Given the description of an element on the screen output the (x, y) to click on. 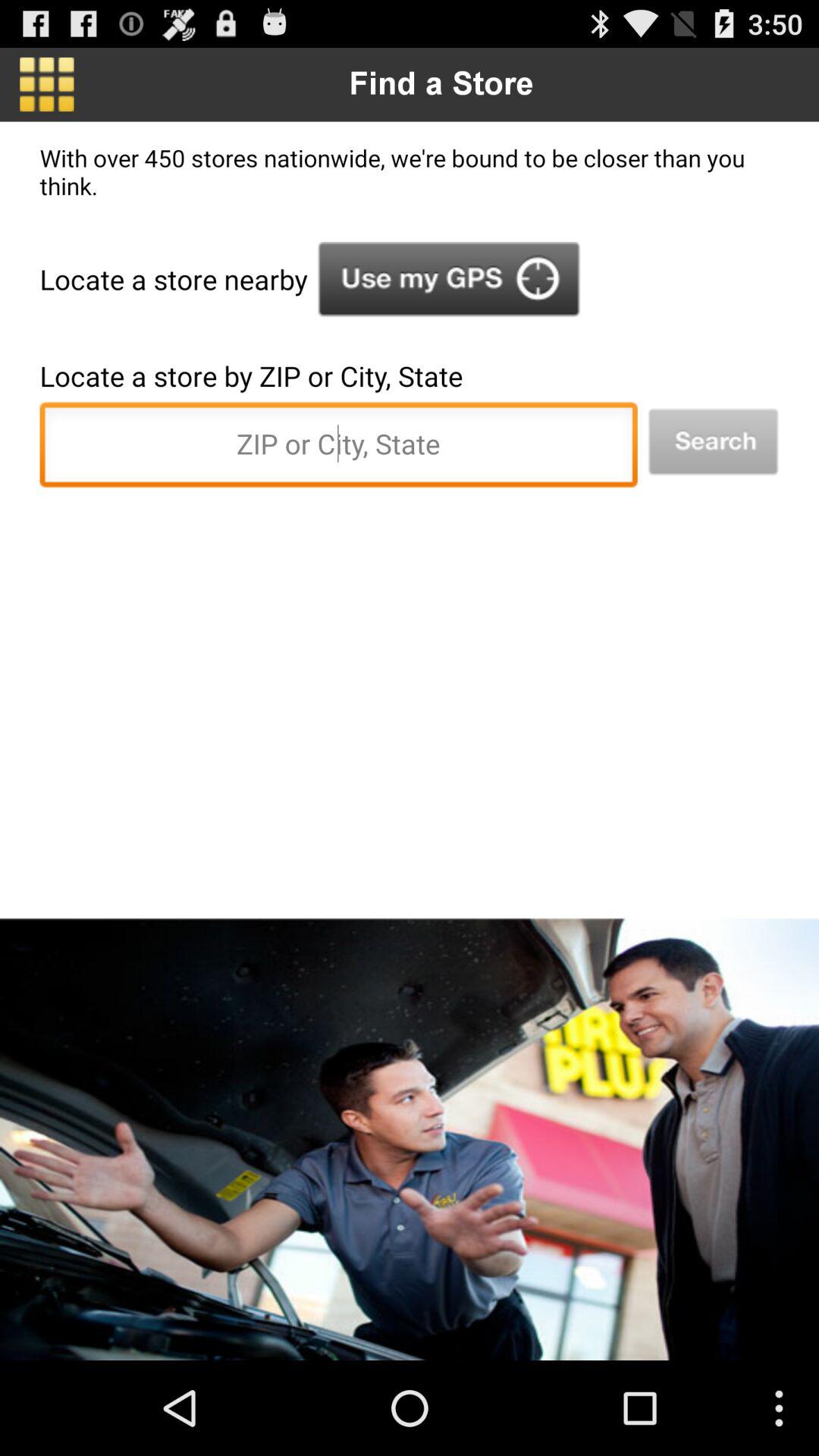
select the item above with over 450 (46, 84)
